Given the description of an element on the screen output the (x, y) to click on. 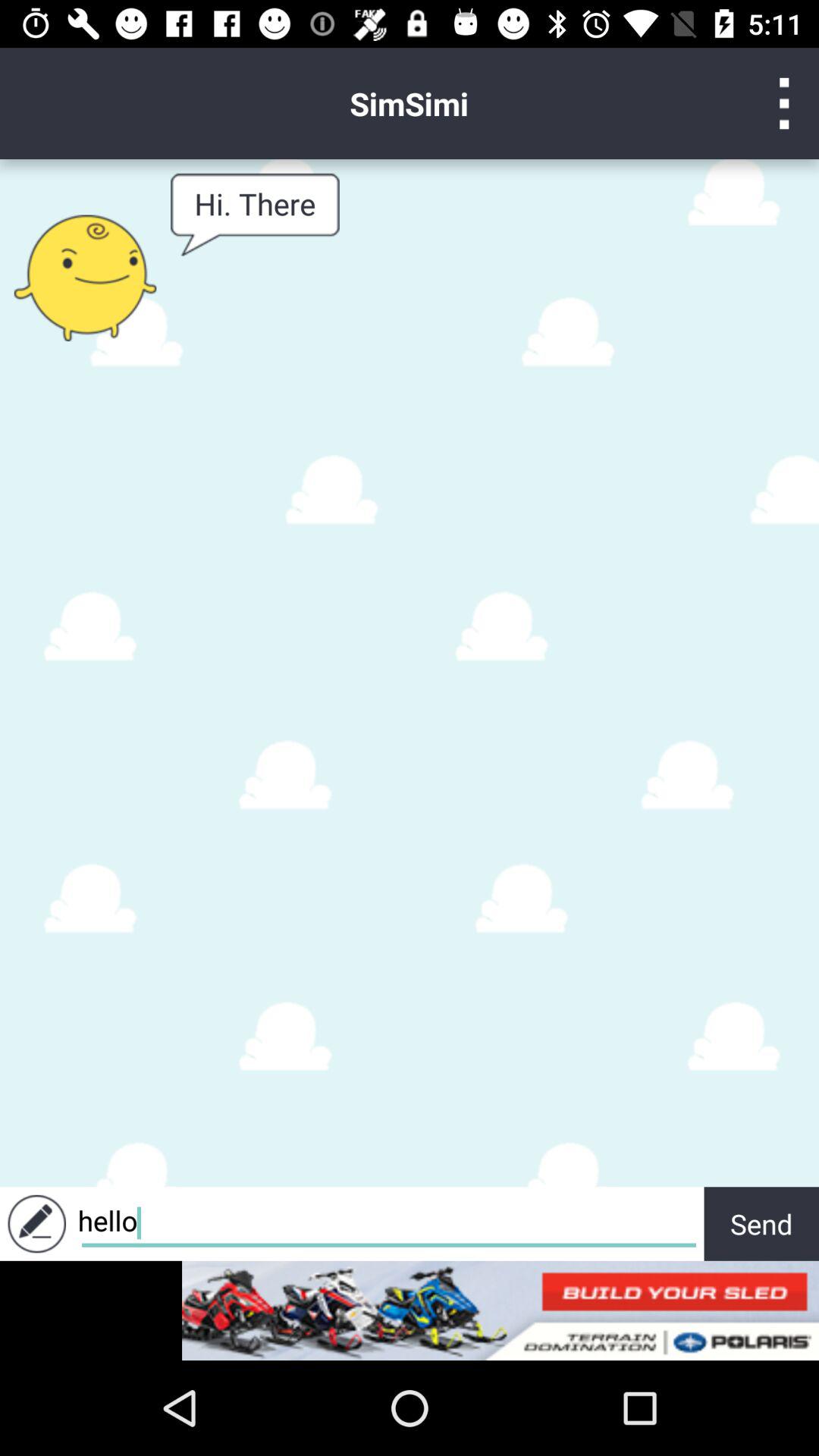
write (36, 1223)
